Given the description of an element on the screen output the (x, y) to click on. 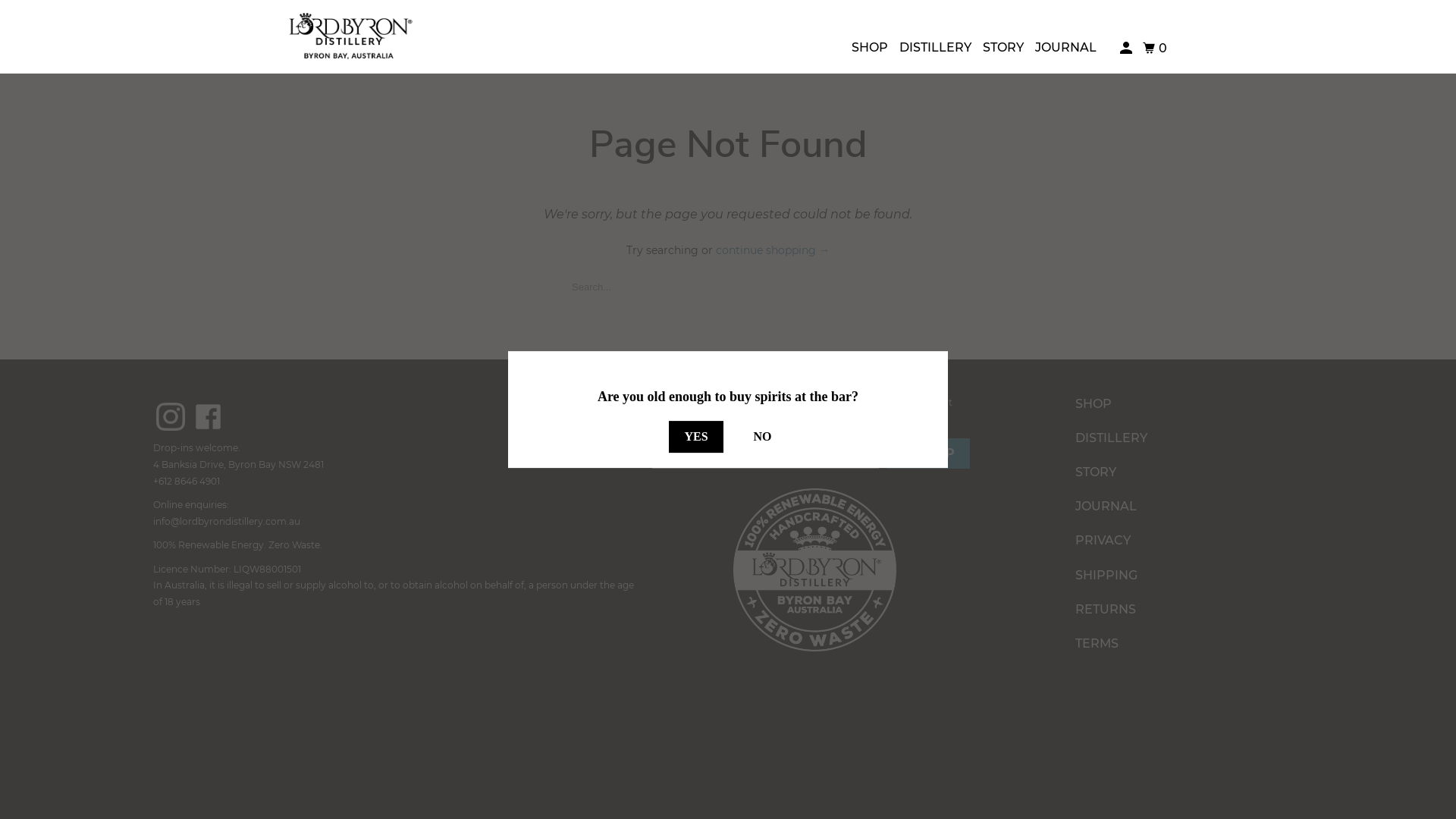
JOURNAL Element type: text (1065, 47)
STORY Element type: text (1181, 471)
DISTILLERY Element type: text (935, 47)
JOURNAL Element type: text (1181, 505)
Sign Up Element type: text (927, 453)
SHOP Element type: text (1181, 403)
DISTILLERY Element type: text (1181, 437)
Lord Byron Distillery on Facebook Element type: hover (208, 416)
TERMS Element type: text (1181, 642)
SHIPPING Element type: text (1181, 574)
Lord Byron Distillery Element type: hover (348, 36)
+612 8646 4901 Element type: text (186, 480)
SHOP Element type: text (869, 47)
PRIVACY Element type: text (1181, 539)
STORY Element type: text (1002, 47)
0 Element type: text (1156, 48)
RETURNS Element type: text (1181, 608)
YES Element type: text (695, 436)
info@lordbyrondistillery.com.au Element type: text (226, 521)
NO Element type: text (762, 436)
My Account  Element type: hover (1127, 48)
Lord Byron Distillery on Instagram Element type: hover (170, 416)
